Given the description of an element on the screen output the (x, y) to click on. 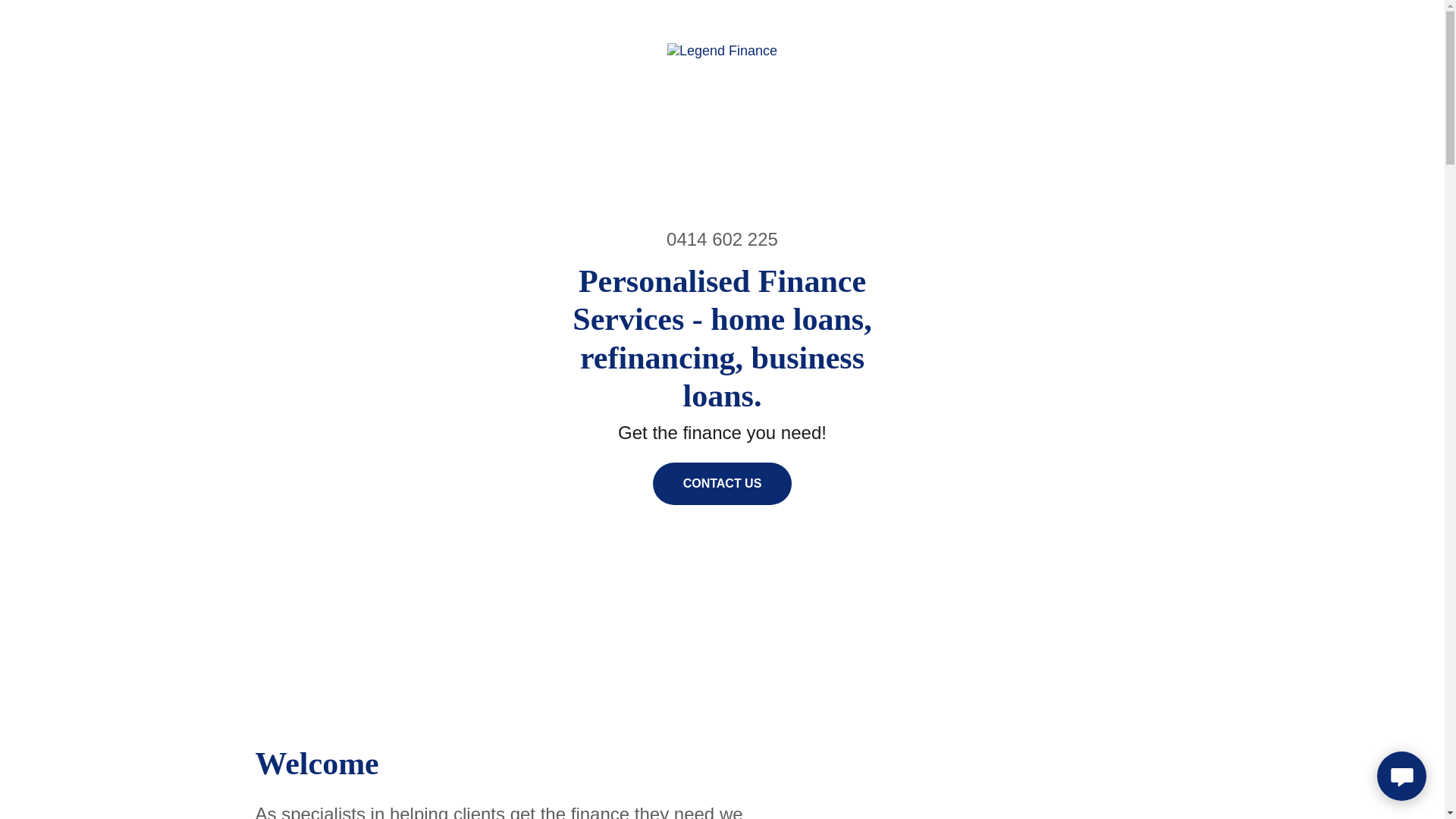
CONTACT US Element type: text (722, 483)
0414 602 225 Element type: text (722, 239)
Legend Finance Element type: hover (722, 49)
